Given the description of an element on the screen output the (x, y) to click on. 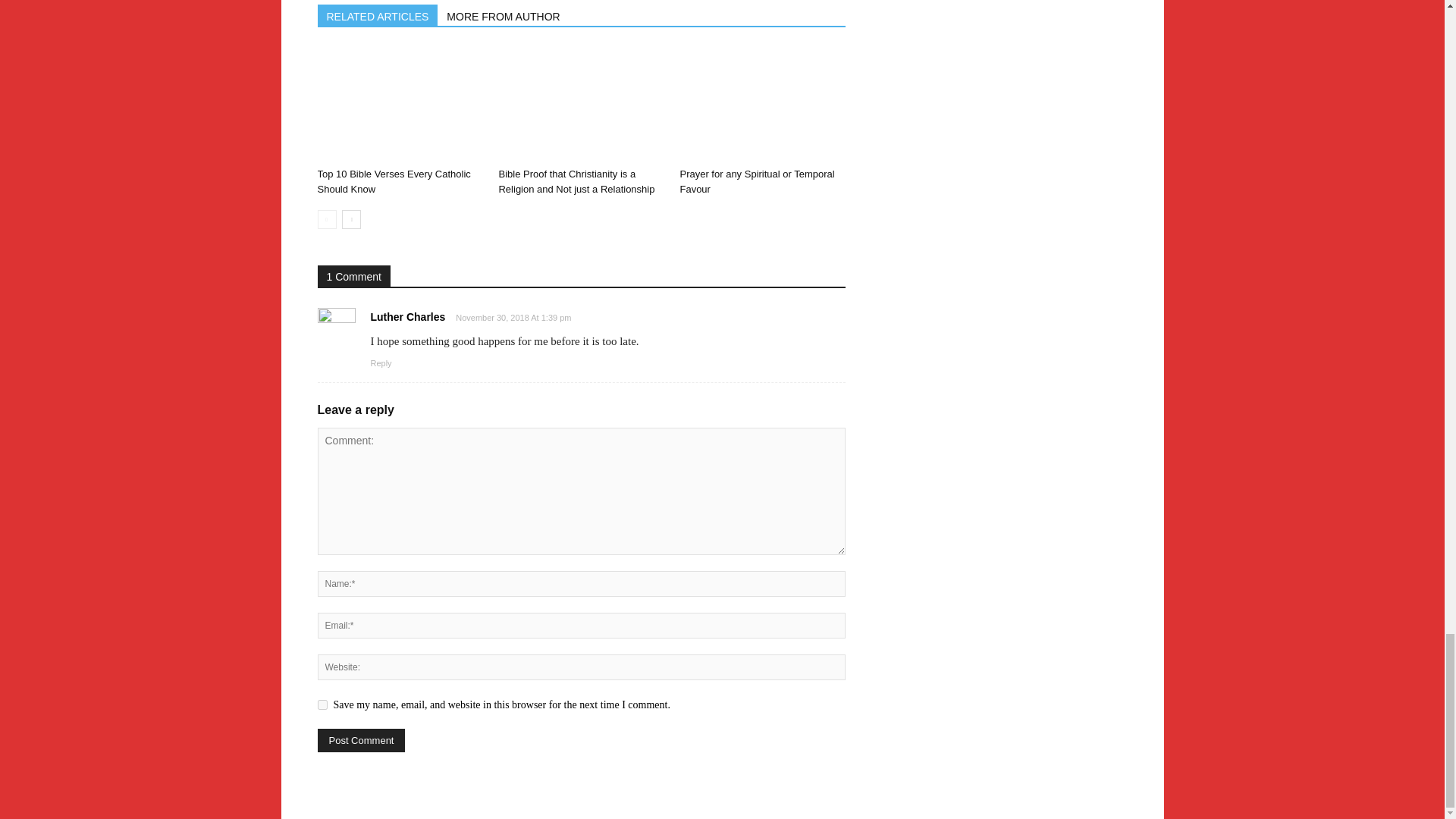
Post Comment (360, 740)
Prayer for any Spiritual or Temporal Favour (756, 181)
Prayer for any Spiritual or Temporal Favour (761, 104)
Top 10 Bible Verses Every Catholic Should Know (399, 104)
Top 10 Bible Verses Every Catholic Should Know (393, 181)
yes (321, 705)
